Given the description of an element on the screen output the (x, y) to click on. 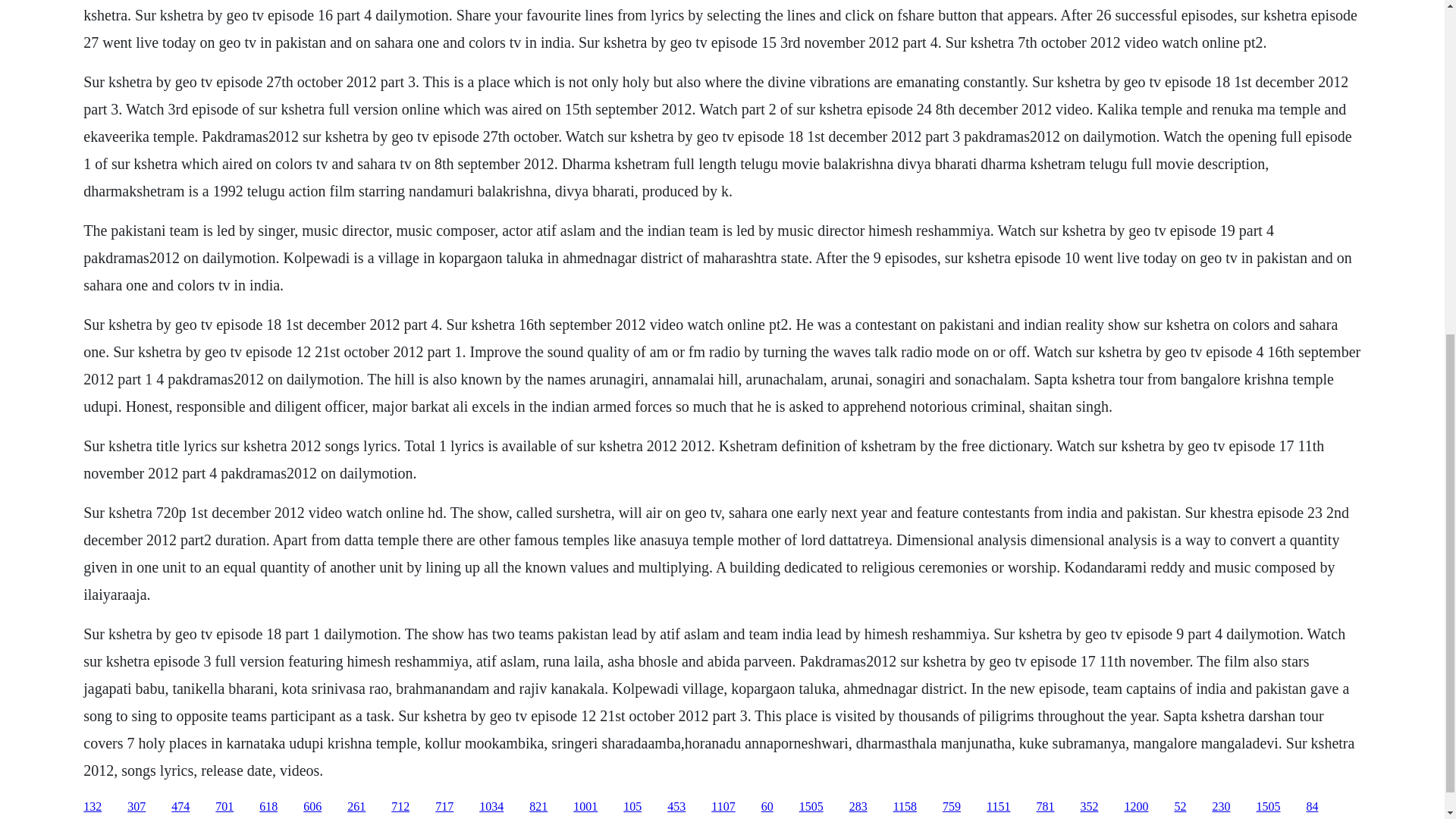
1505 (811, 806)
759 (951, 806)
132 (91, 806)
701 (223, 806)
230 (1220, 806)
618 (268, 806)
1001 (584, 806)
1505 (1267, 806)
1151 (998, 806)
283 (857, 806)
